Given the description of an element on the screen output the (x, y) to click on. 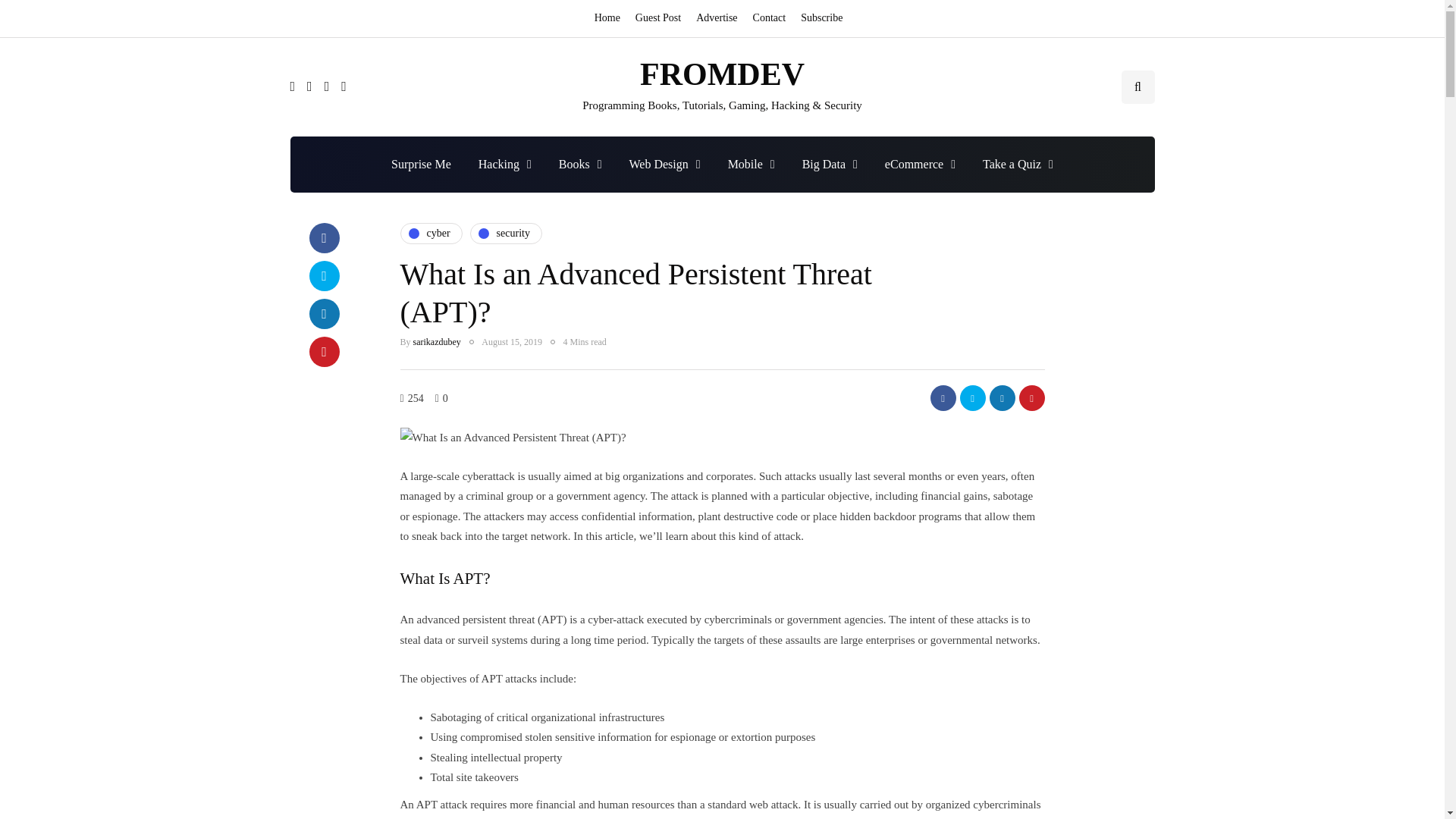
Guest Post (657, 18)
Mobile (751, 163)
Web Design (664, 163)
Hacking (504, 163)
Surprise Me (420, 163)
Big Data (829, 163)
Books (579, 163)
Contact (769, 18)
Subscribe (821, 18)
Advertise (716, 18)
Home (610, 18)
FROMDEV (722, 73)
